Given the description of an element on the screen output the (x, y) to click on. 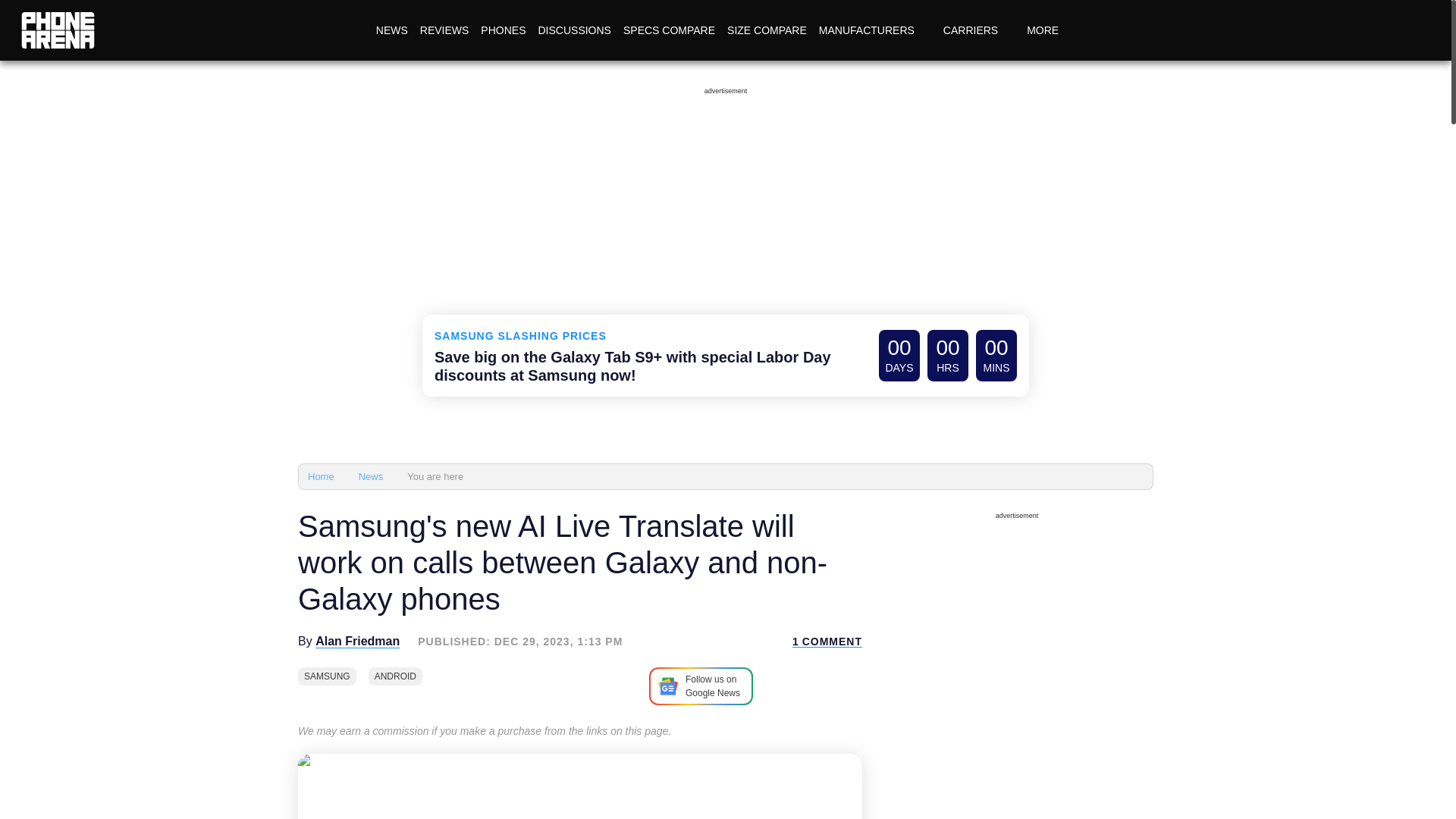
MANUFACTURERS (874, 30)
PHONES (502, 30)
DISCUSSIONS (573, 30)
REVIEWS (444, 30)
SIZE COMPARE (766, 30)
NEWS (391, 30)
MORE (1050, 30)
CARRIERS (978, 30)
SPECS COMPARE (668, 30)
